Given the description of an element on the screen output the (x, y) to click on. 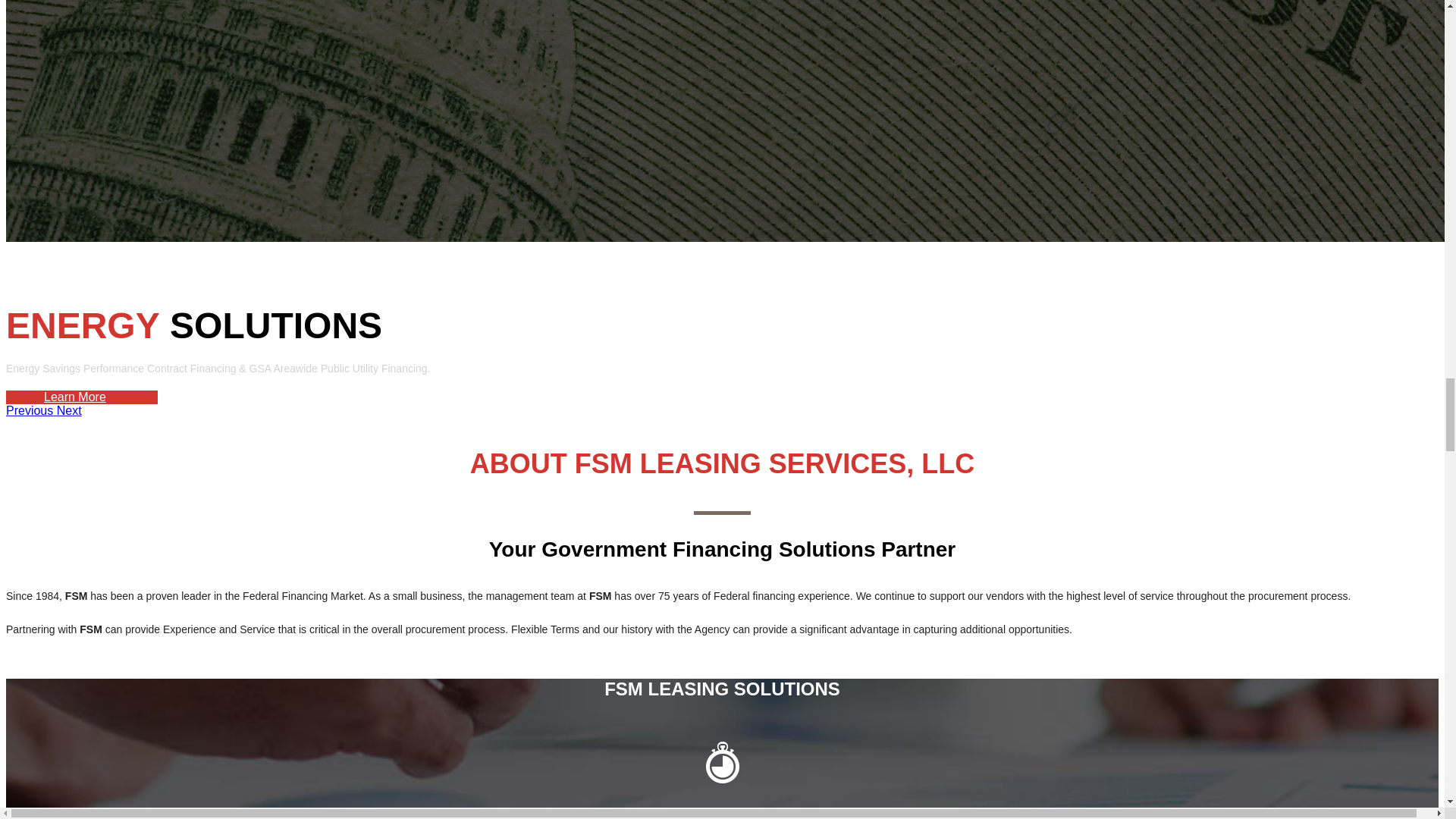
Next (68, 410)
Previous (30, 410)
Learn More (74, 396)
Extended Payment Plans (721, 778)
